Given the description of an element on the screen output the (x, y) to click on. 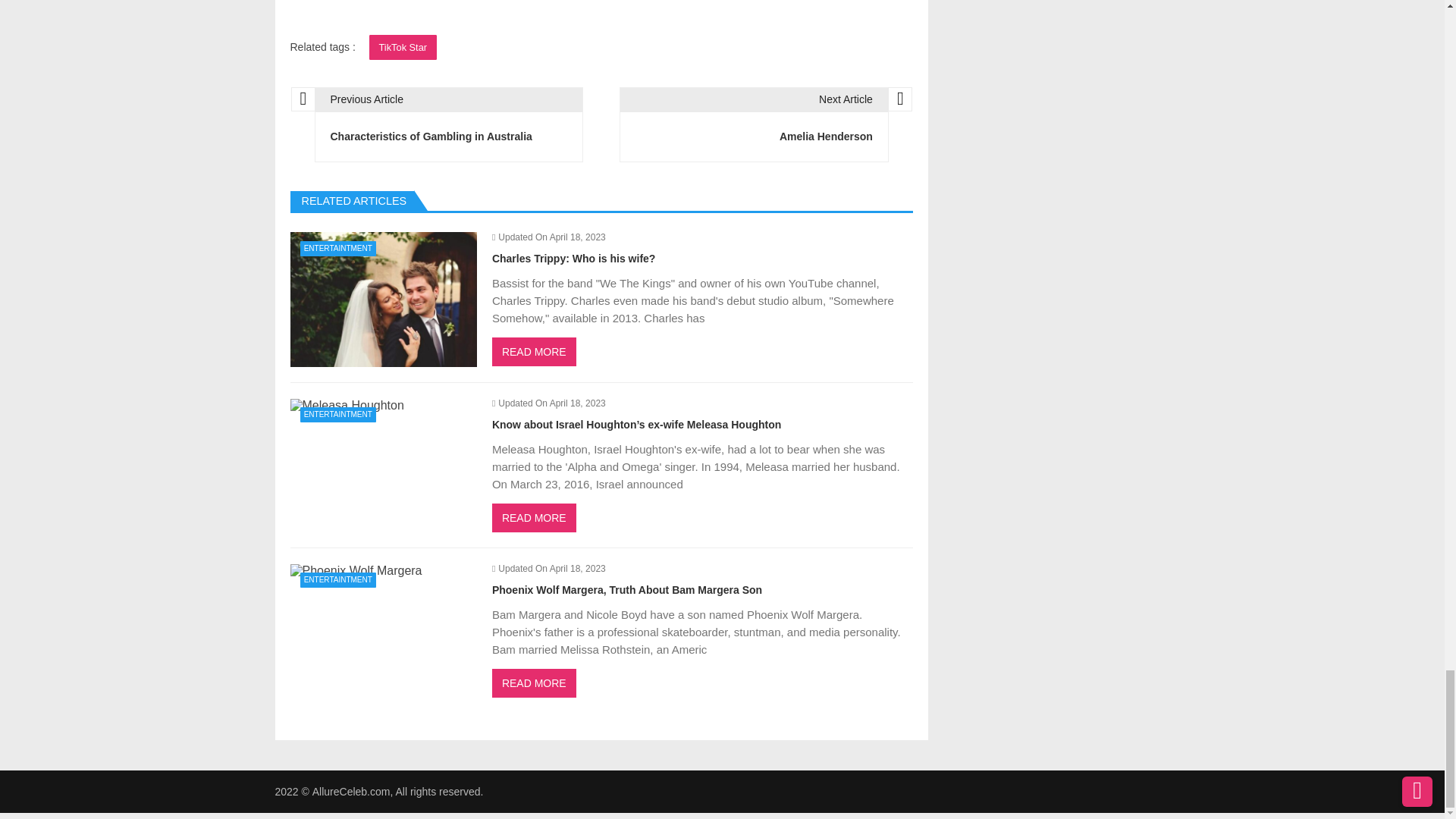
Phoenix Wolf Margera, Truth About Bam Margera Son (355, 571)
TikTok Star (448, 124)
Charles Trippy: Who is his wife? (403, 47)
